Given the description of an element on the screen output the (x, y) to click on. 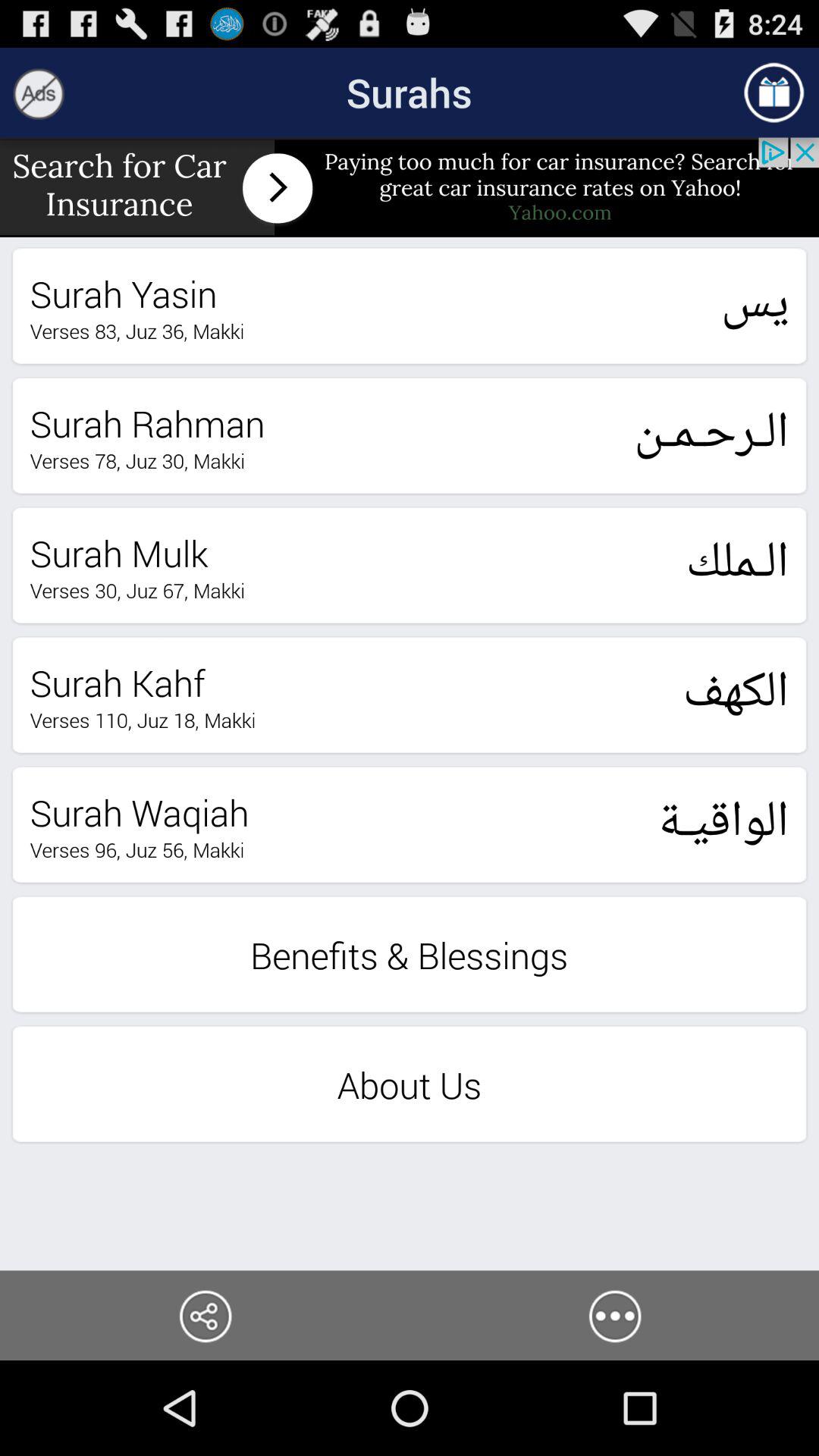
add banner (409, 187)
